Given the description of an element on the screen output the (x, y) to click on. 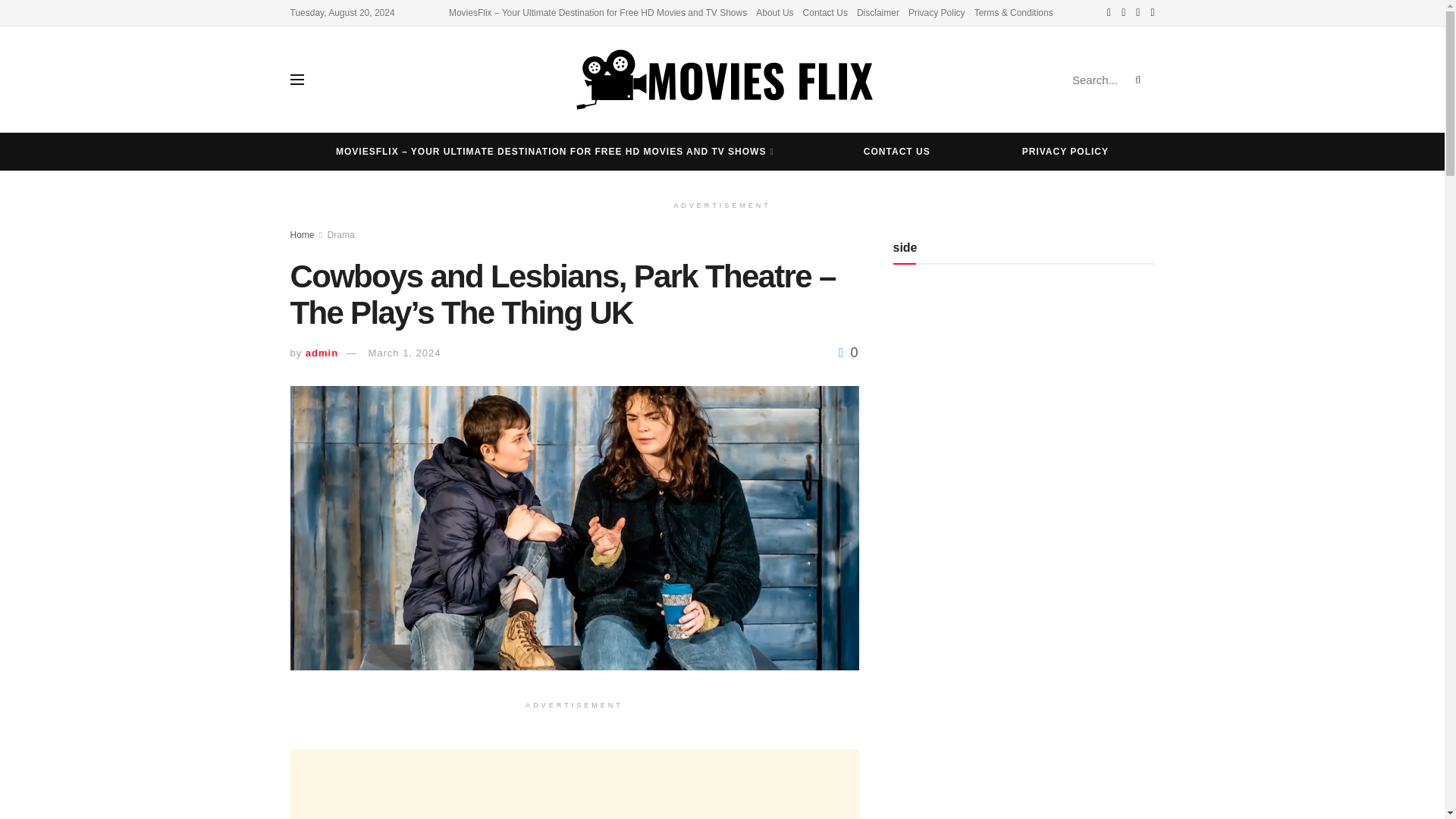
Privacy Policy (936, 12)
About Us (774, 12)
Disclaimer (878, 12)
Advertisement (574, 784)
Contact Us (825, 12)
PRIVACY POLICY (1064, 151)
CONTACT US (895, 151)
